Given the description of an element on the screen output the (x, y) to click on. 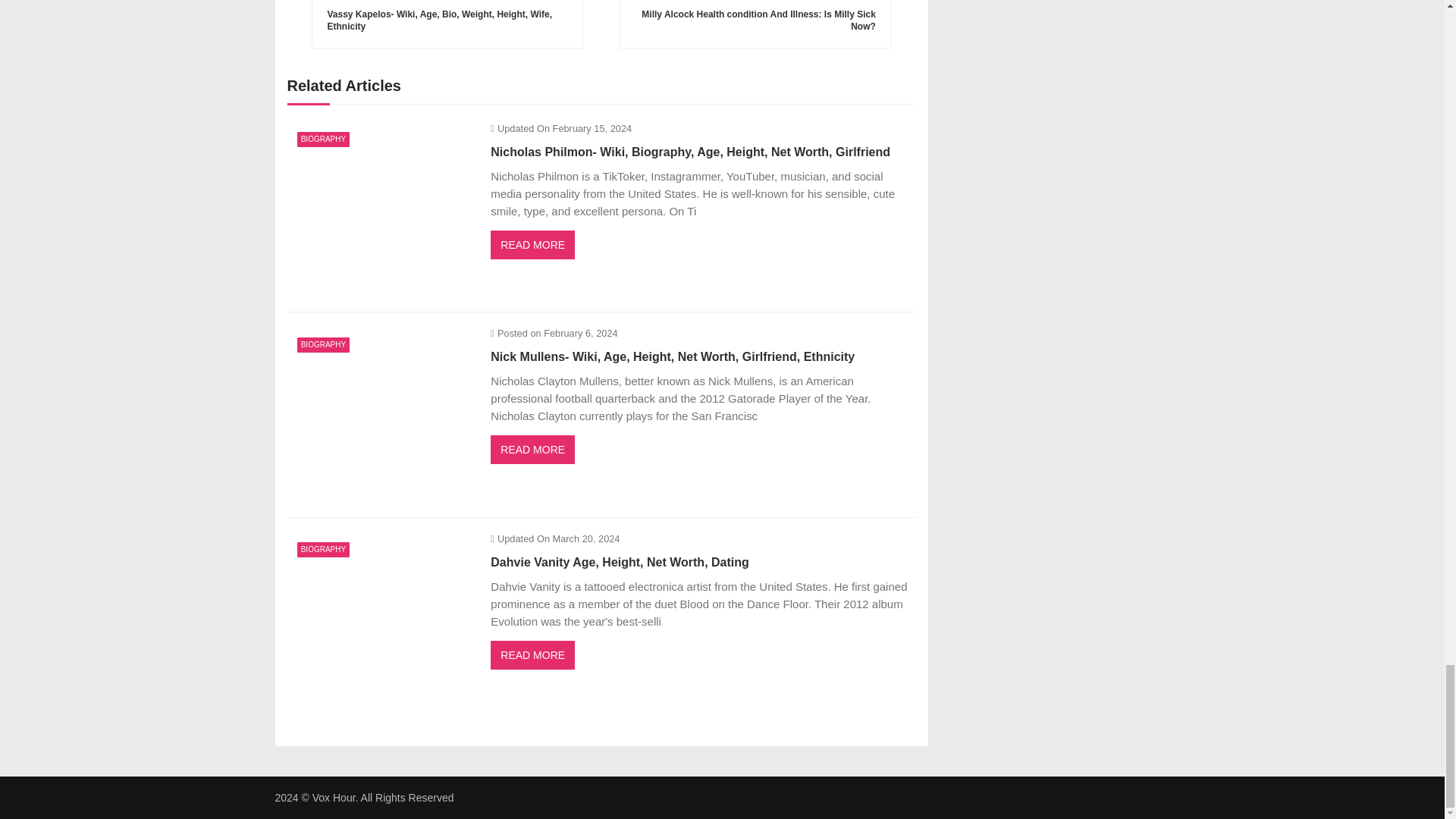
Dahvie Vanity Age, Height, Net Worth, Dating (381, 620)
